Given the description of an element on the screen output the (x, y) to click on. 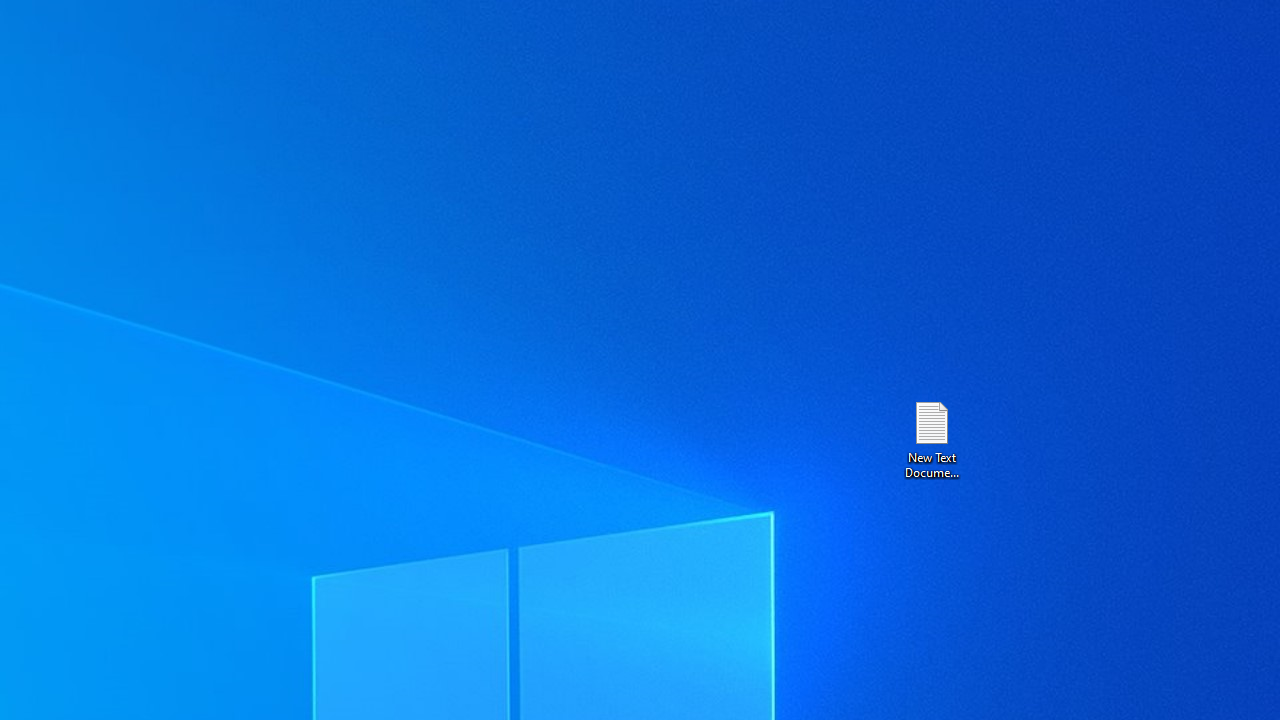
New Text Document (2) (931, 438)
